Given the description of an element on the screen output the (x, y) to click on. 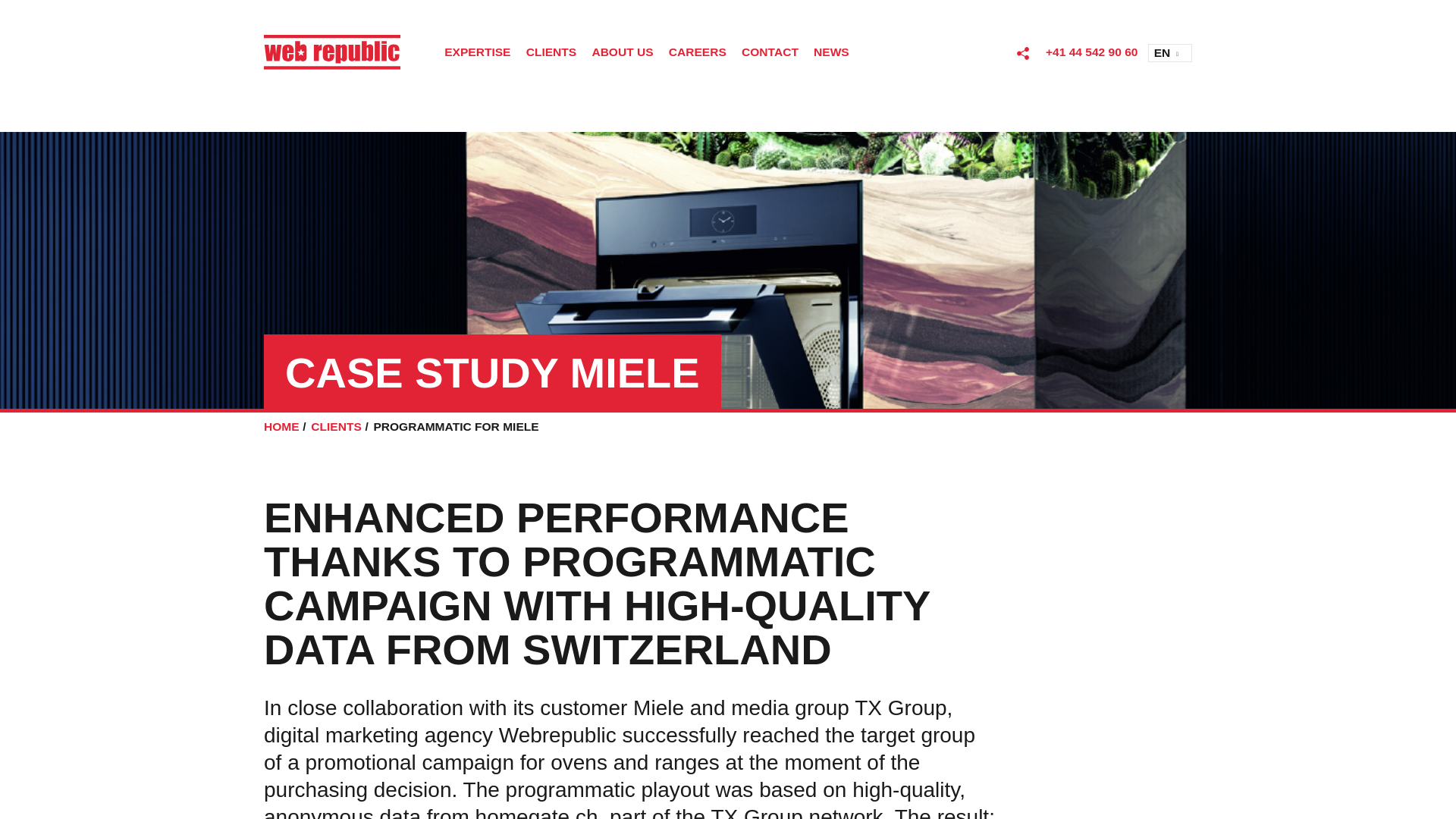
Clients (336, 426)
Home (281, 426)
Logo Webrepublic (342, 52)
NEWS (831, 52)
Logo Webrepublic (331, 52)
ABOUT US (622, 52)
CLIENTS (550, 52)
